Given the description of an element on the screen output the (x, y) to click on. 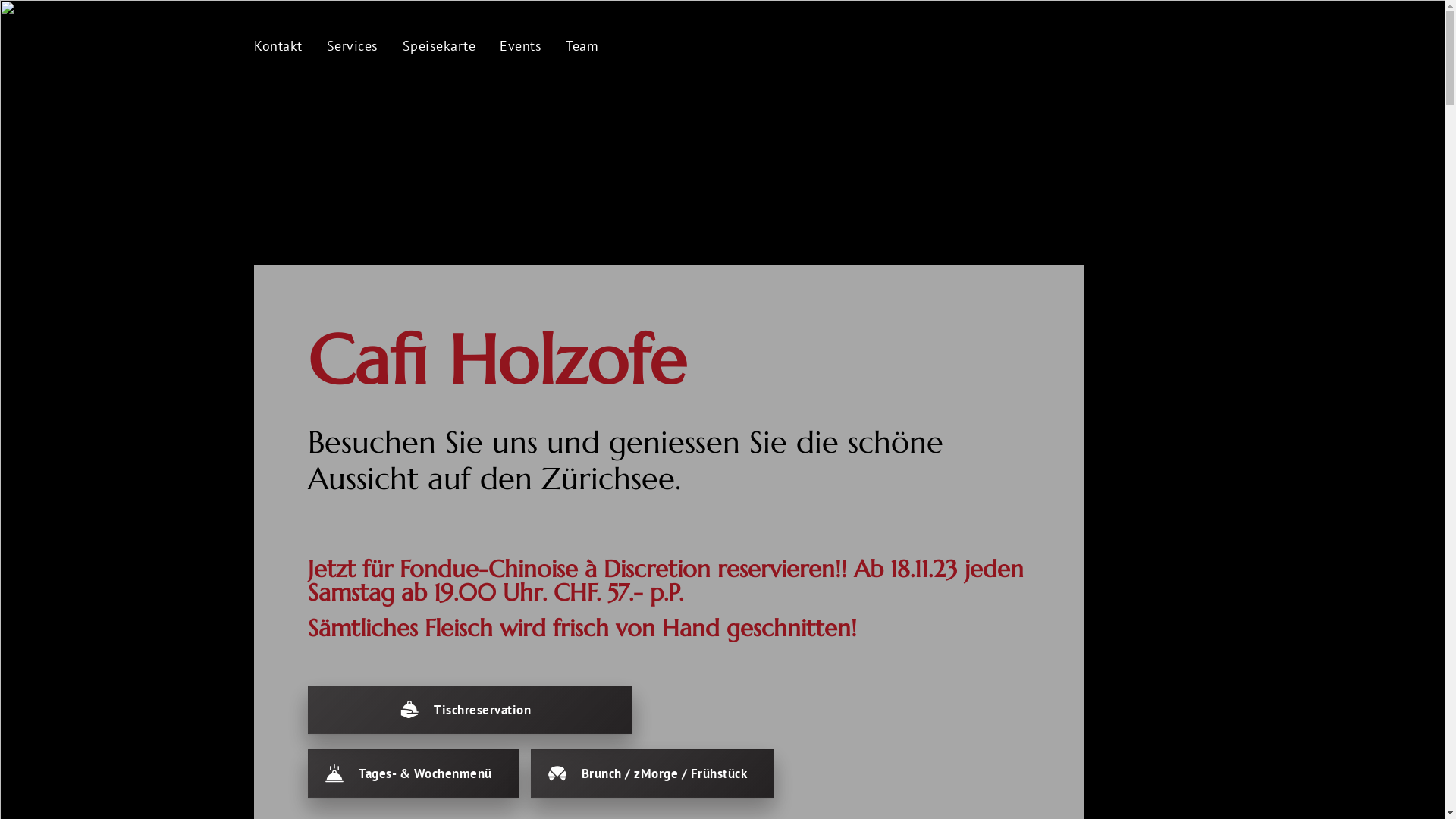
Kontakt Element type: text (278, 45)
Speisekarte Element type: text (438, 45)
Tischreservation Element type: text (469, 709)
Services Element type: text (351, 45)
Events Element type: text (520, 45)
Team Element type: text (581, 45)
